Given the description of an element on the screen output the (x, y) to click on. 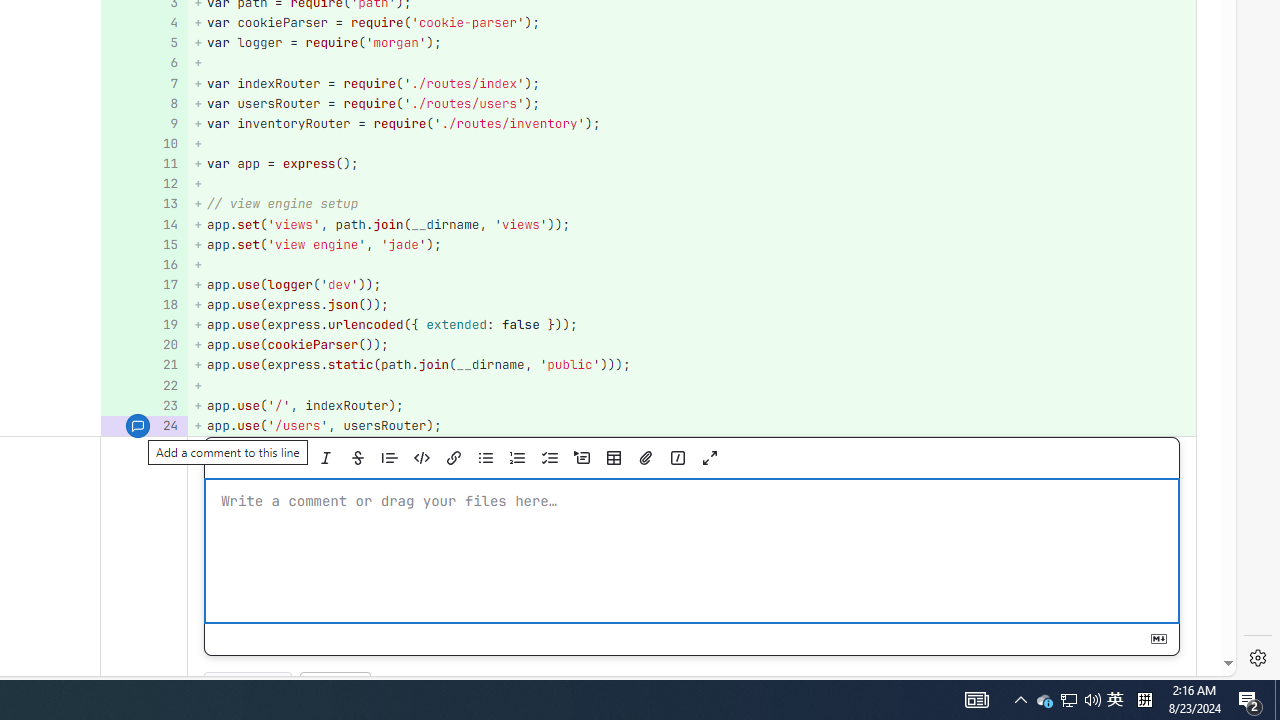
Cancel (335, 687)
Add a bullet list (485, 457)
15 (141, 244)
+ app.set('view engine', 'jade');  (691, 244)
+ var indexRouter = require('./routes/index');  (691, 83)
8 (141, 102)
Insert a quote (389, 457)
+ var app = express();  (691, 164)
5 (141, 43)
+ // view engine setup  (691, 204)
+ app.use(express.static(path.join(__dirname, 'public')));  (691, 364)
Add a comment to this line 24 (144, 425)
+ var inventoryRouter = require('./routes/inventory');  (691, 123)
Add a comment to this line 15 (144, 244)
11 (141, 164)
